Given the description of an element on the screen output the (x, y) to click on. 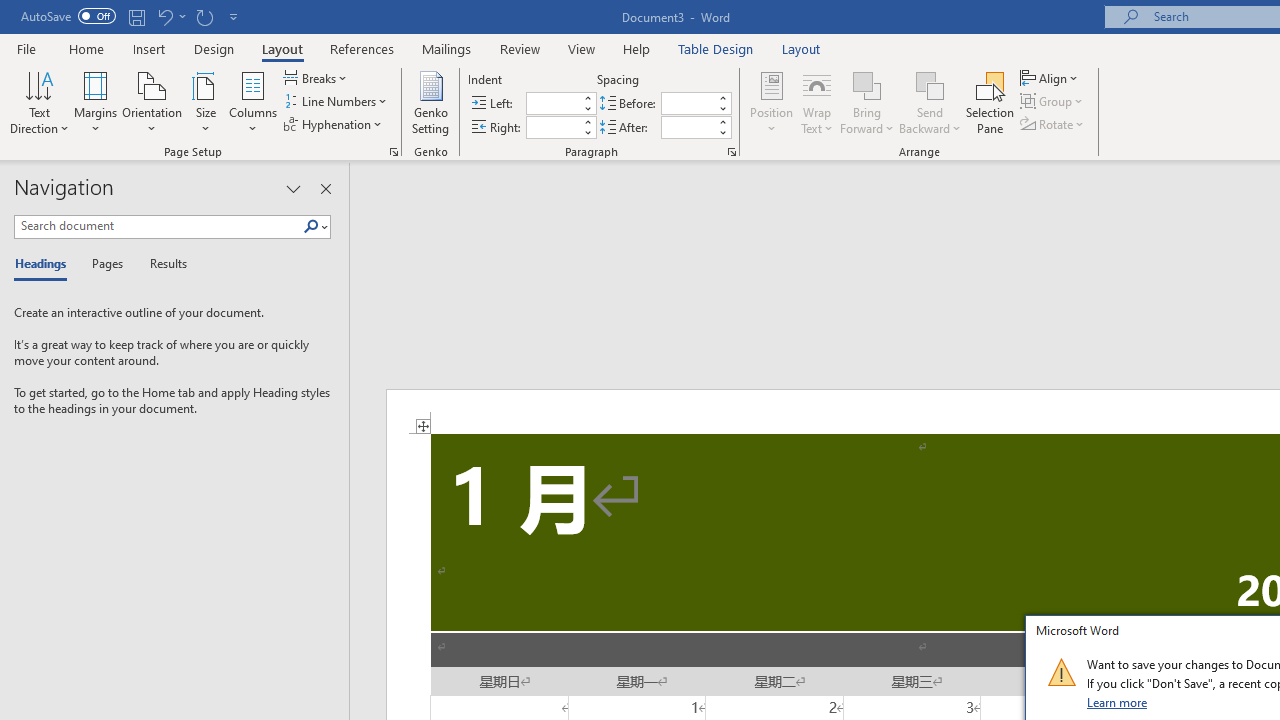
Selection Pane... (990, 102)
Wrap Text (817, 102)
More (722, 121)
Spacing Before (687, 103)
Bring Forward (867, 84)
Group (1053, 101)
Text Direction (39, 102)
